Given the description of an element on the screen output the (x, y) to click on. 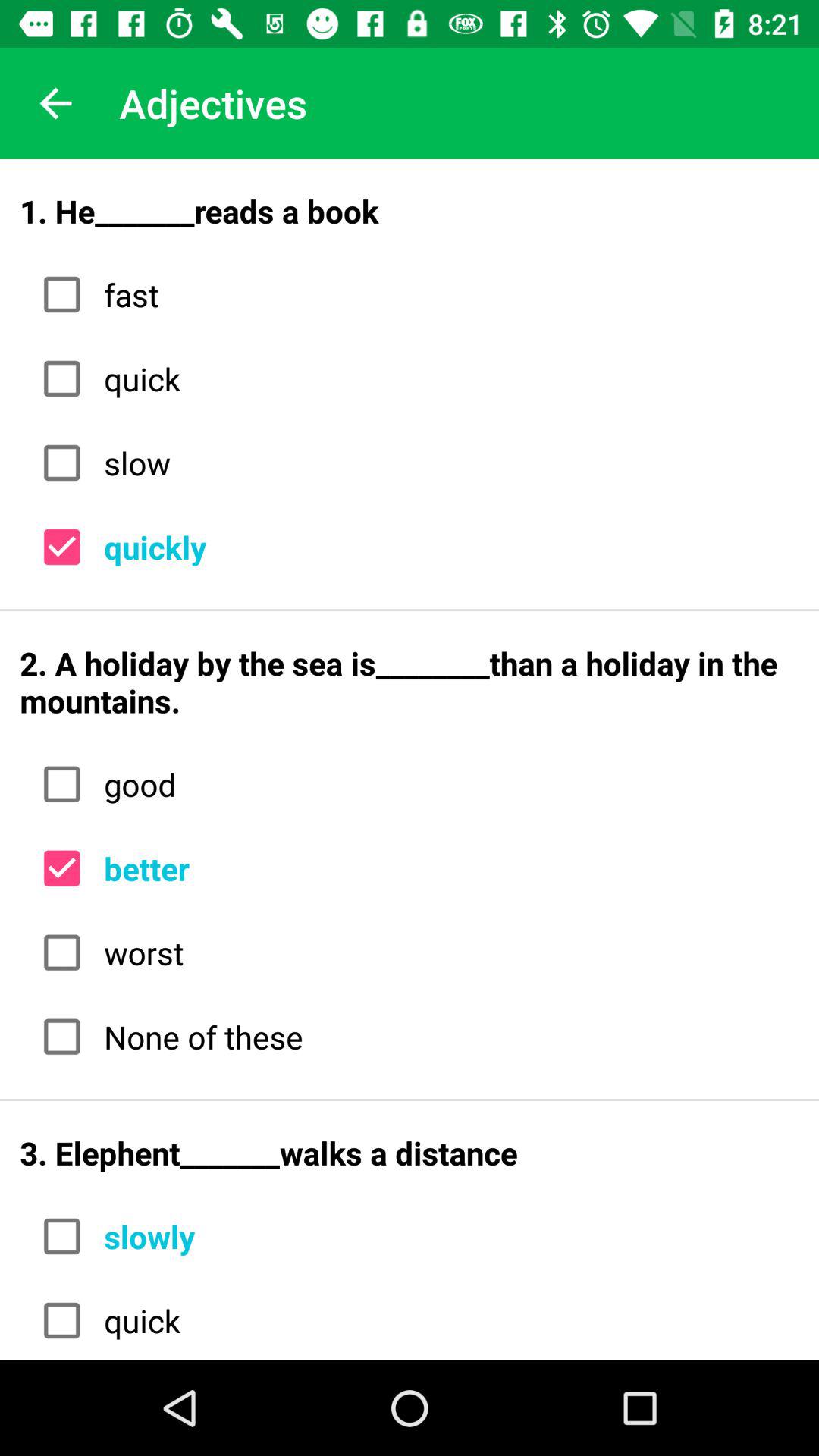
flip until the 3 elephent_______walks a (409, 1152)
